Given the description of an element on the screen output the (x, y) to click on. 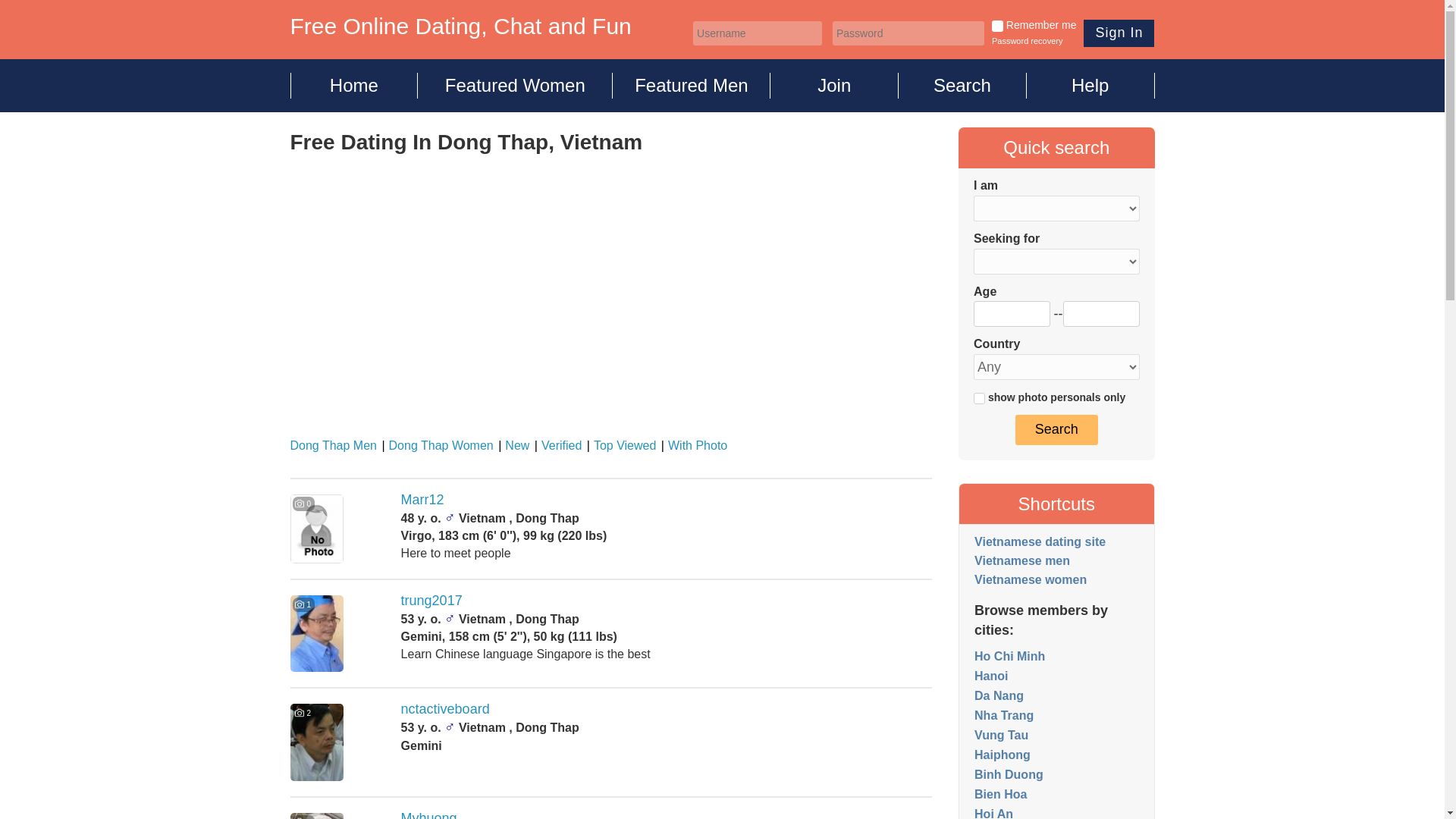
Myhuong (429, 814)
Featured Men (691, 85)
Join (834, 85)
Top Viewed (620, 445)
trung2017 (432, 600)
Marr12 (422, 499)
Search (962, 85)
1 (997, 25)
Help (1090, 85)
Dong Thap Women (436, 445)
